Given the description of an element on the screen output the (x, y) to click on. 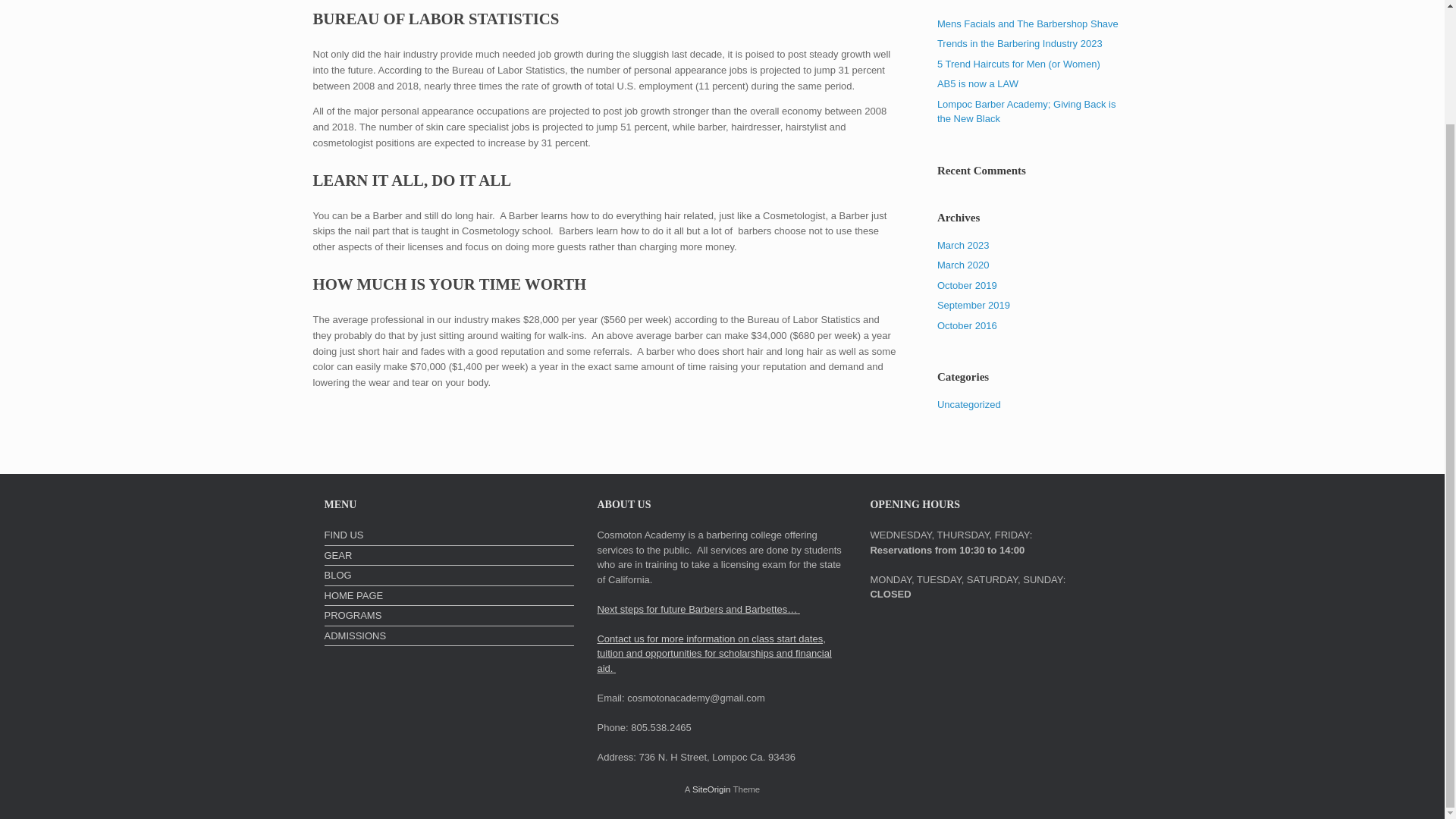
Lompoc Barber Academy; Giving Back is the New Black (1026, 110)
AB5 is now a LAW (977, 83)
HOME PAGE (449, 597)
September 2019 (973, 305)
October 2016 (967, 324)
October 2019 (967, 285)
SiteOrigin (711, 788)
Trends in the Barbering Industry 2023 (1019, 43)
PROGRAMS (449, 617)
Mens Facials and The Barbershop Shave (1027, 22)
March 2020 (963, 265)
March 2023 (963, 244)
GEAR (449, 556)
FIND US (449, 536)
